Given the description of an element on the screen output the (x, y) to click on. 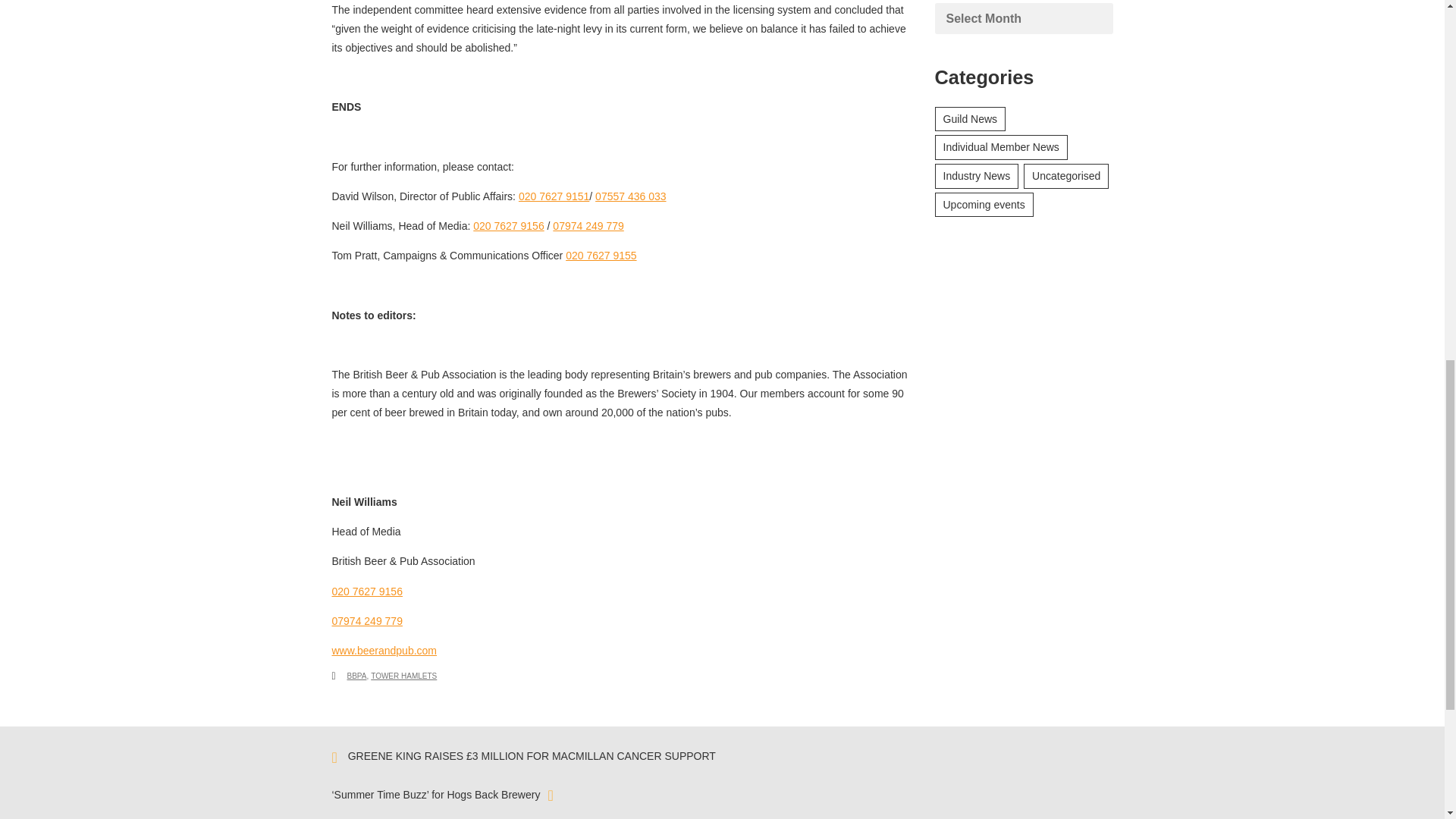
020 7627 9151 (553, 196)
020 7627 9156 (508, 225)
07557 436 033 (630, 196)
